Given the description of an element on the screen output the (x, y) to click on. 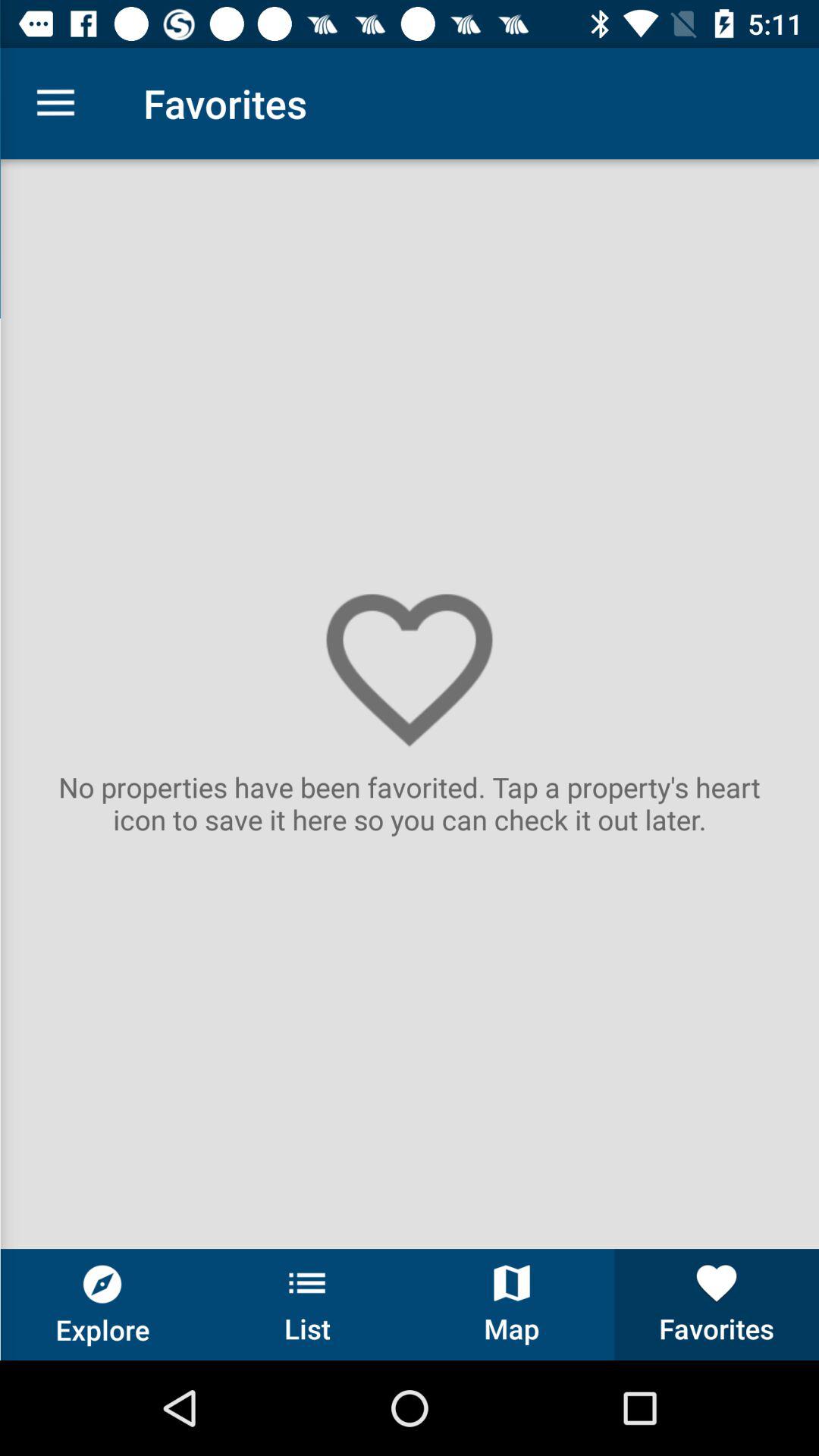
launch the icon next to favorites (55, 103)
